Given the description of an element on the screen output the (x, y) to click on. 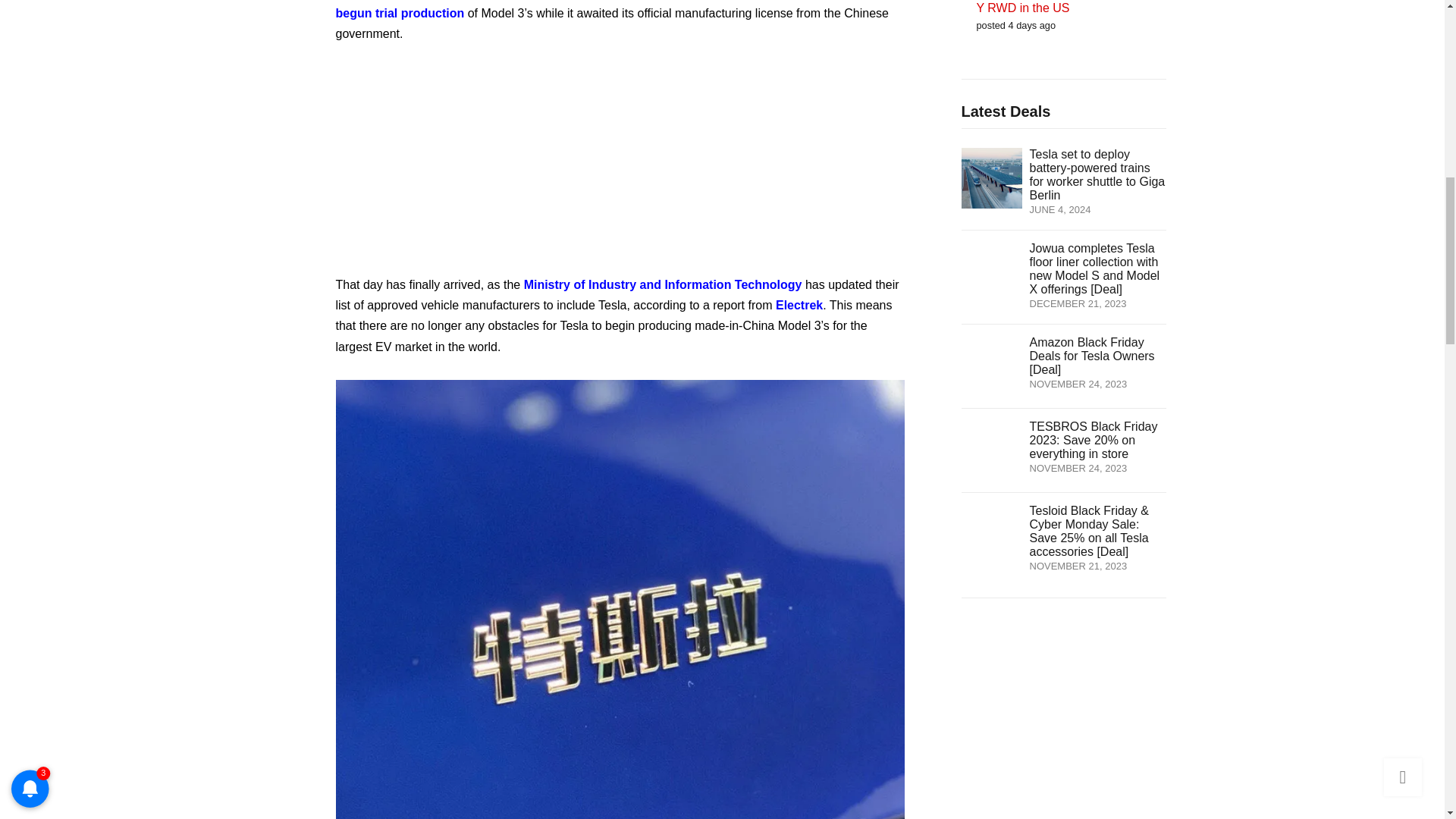
complete and had begun trial production (600, 9)
Electrek (799, 305)
Ministry of Industry and Information Technology (663, 284)
